Given the description of an element on the screen output the (x, y) to click on. 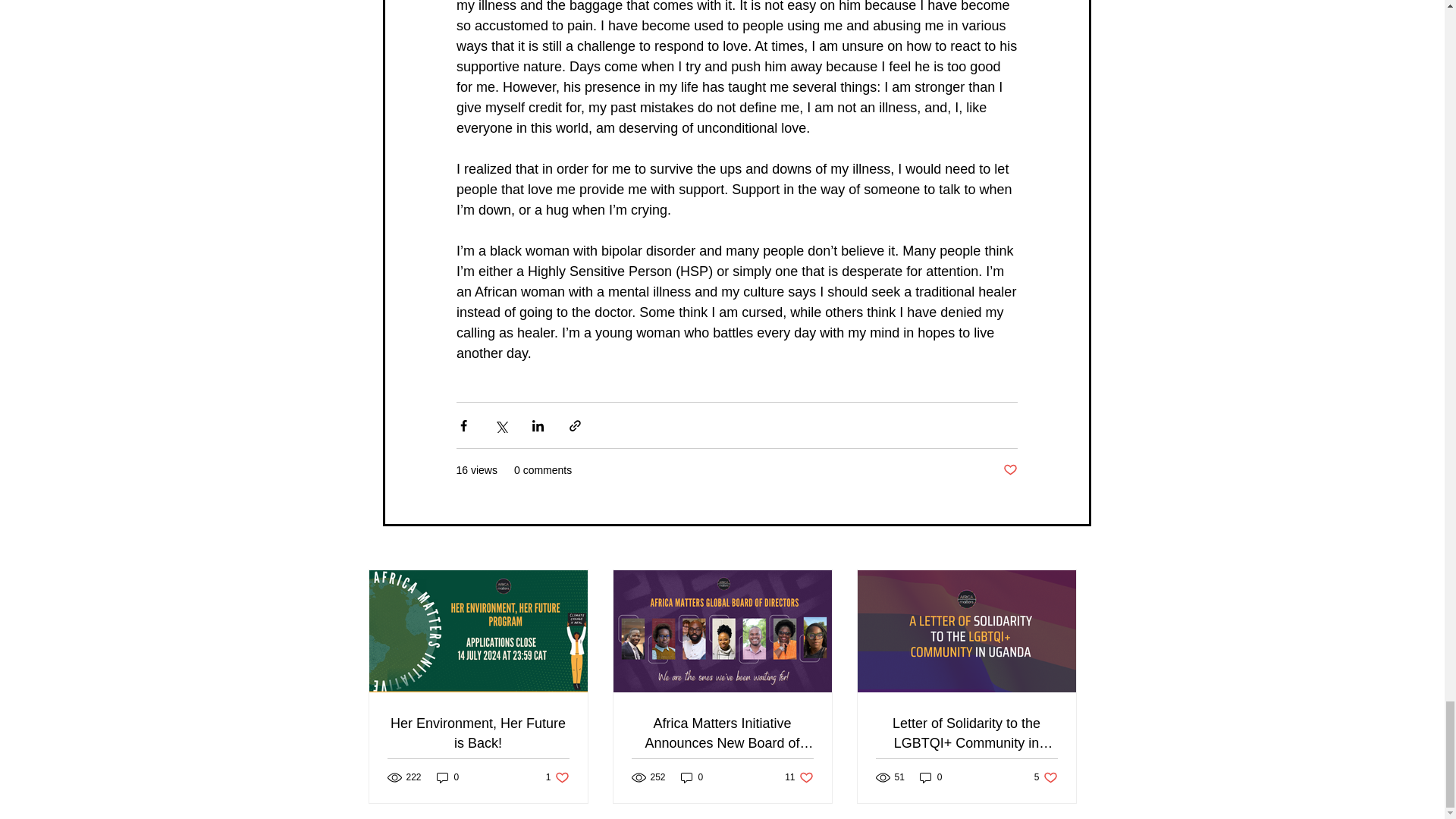
Her Environment, Her Future is Back! (478, 733)
Post not marked as liked (798, 777)
0 (1009, 470)
0 (557, 777)
0 (930, 777)
